Given the description of an element on the screen output the (x, y) to click on. 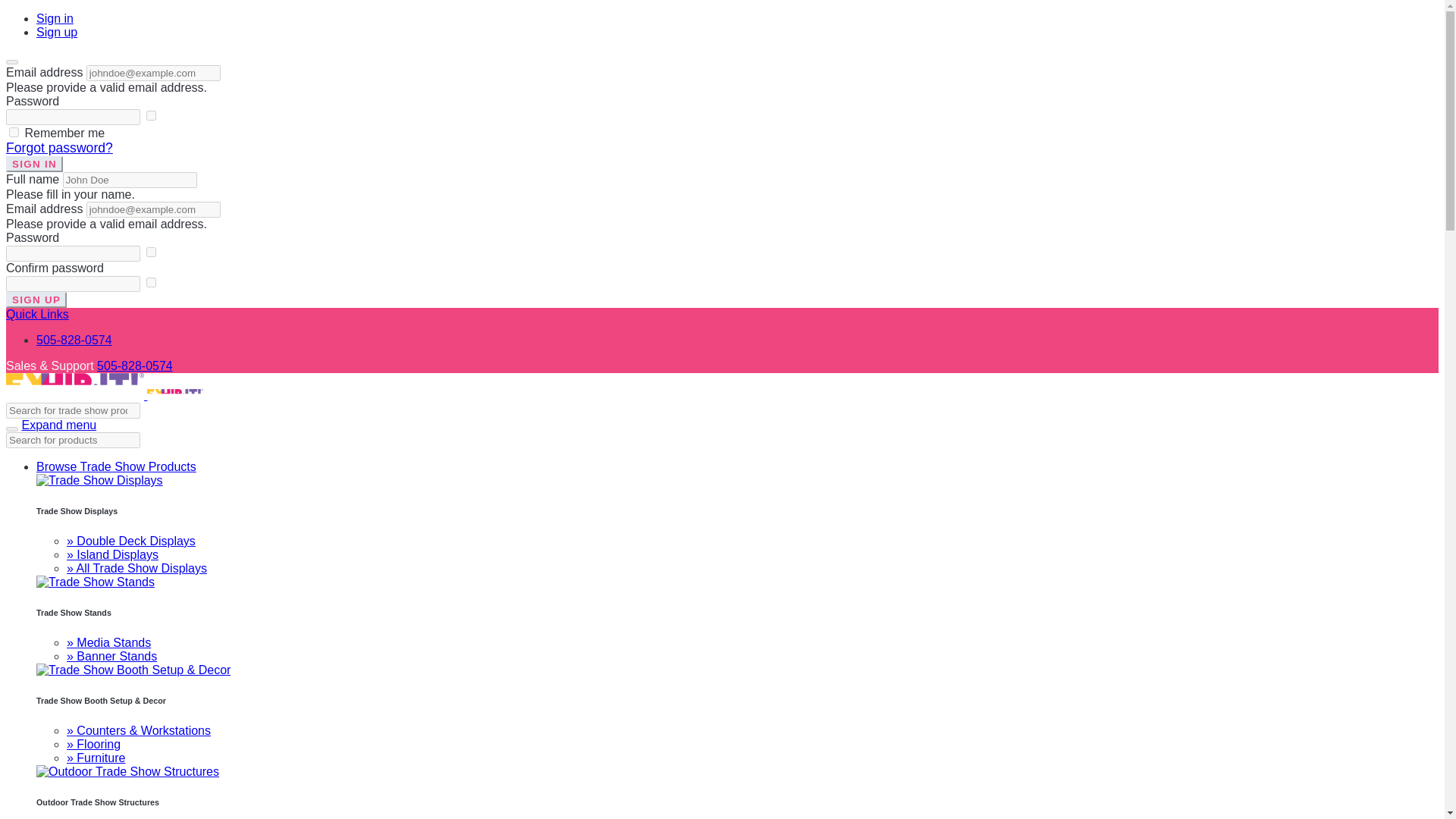
on (151, 282)
Browse Trade Show Products (116, 466)
on (13, 132)
505-828-0574 (135, 366)
on (151, 115)
505-828-0574 (74, 339)
Forgot password? (59, 147)
Quick Links (36, 314)
Sign up (56, 31)
SIGN UP (35, 299)
